Given the description of an element on the screen output the (x, y) to click on. 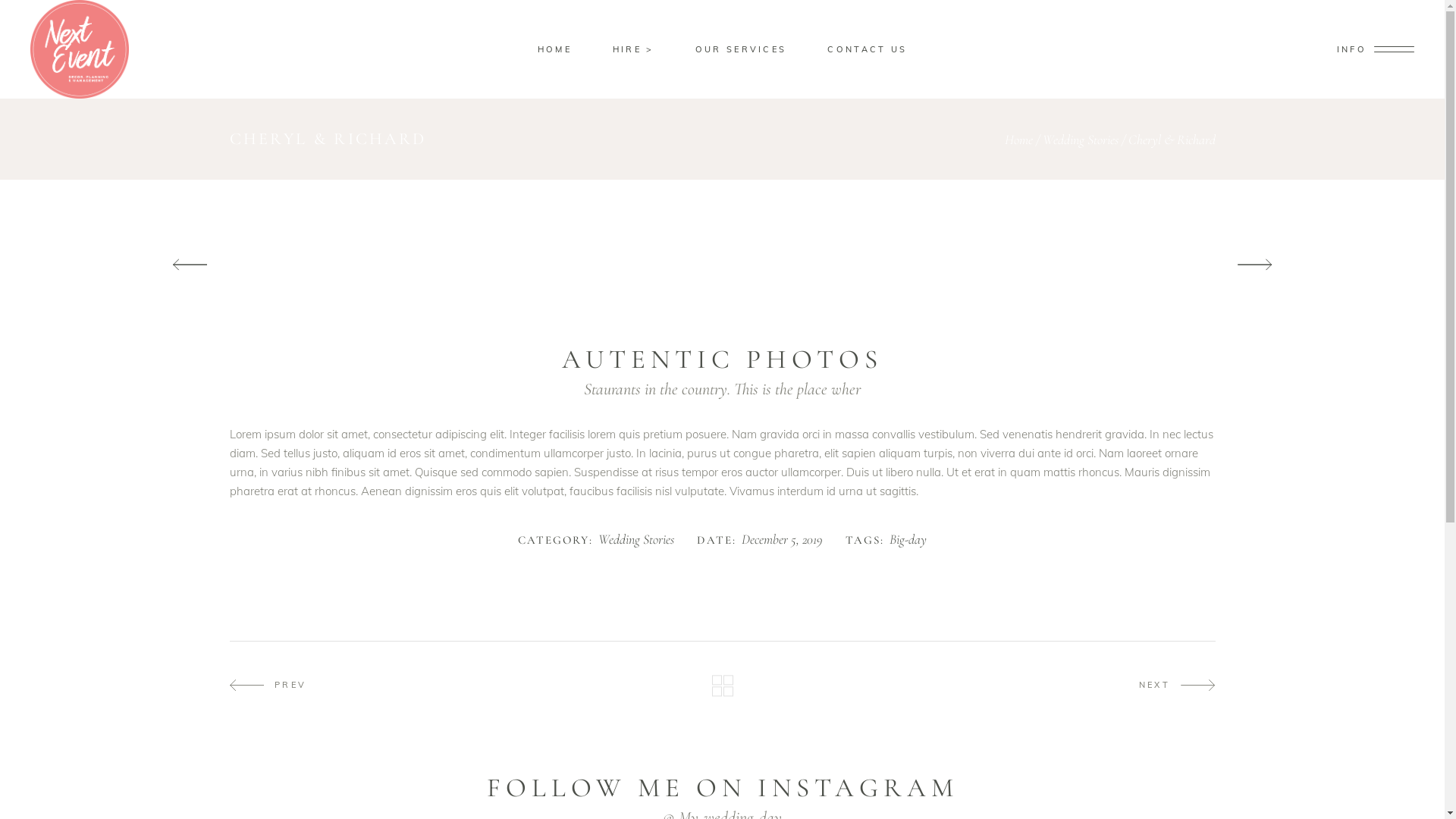
CONTACT US Element type: text (866, 49)
Wedding Stories Element type: text (636, 540)
NEXT Element type: text (1177, 685)
HIRE > Element type: text (633, 49)
Wedding Stories Element type: text (1079, 139)
INFO Element type: text (1375, 48)
PREV Element type: text (267, 685)
HOME Element type: text (554, 49)
Home Element type: text (1018, 139)
Big-day Element type: text (907, 540)
OUR SERVICES Element type: text (740, 49)
